Given the description of an element on the screen output the (x, y) to click on. 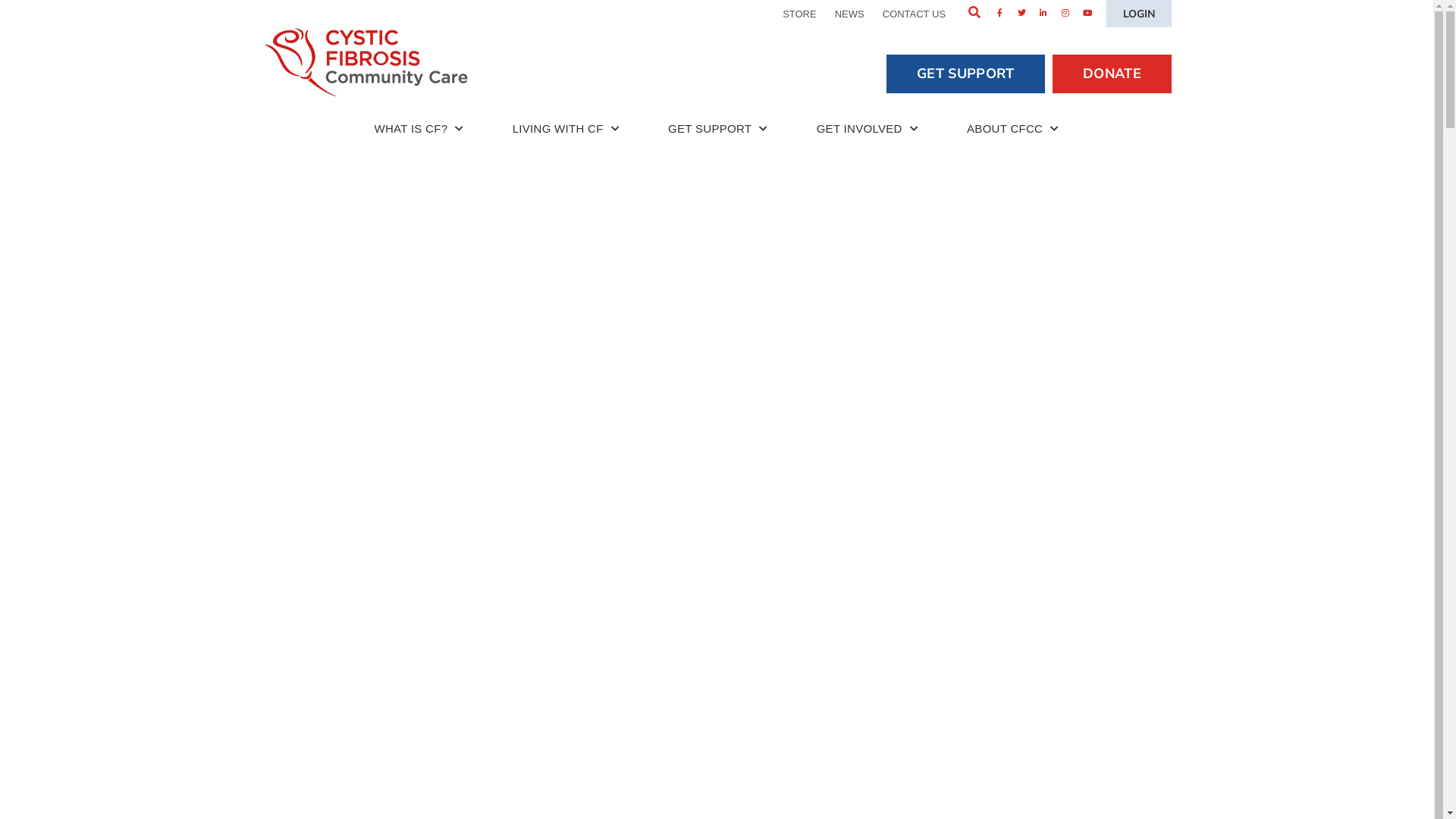
STORE Element type: text (799, 14)
CONTACT US Element type: text (913, 14)
GET SUPPORT Element type: text (965, 73)
GET SUPPORT Element type: text (717, 128)
NEWS Element type: text (849, 14)
DONATE Element type: text (1111, 73)
LIVING WITH CF Element type: text (565, 128)
LOGIN Element type: text (1138, 13)
WHAT IS CF? Element type: text (418, 128)
ABOUT CFCC Element type: text (1013, 128)
GET INVOLVED Element type: text (867, 128)
